Given the description of an element on the screen output the (x, y) to click on. 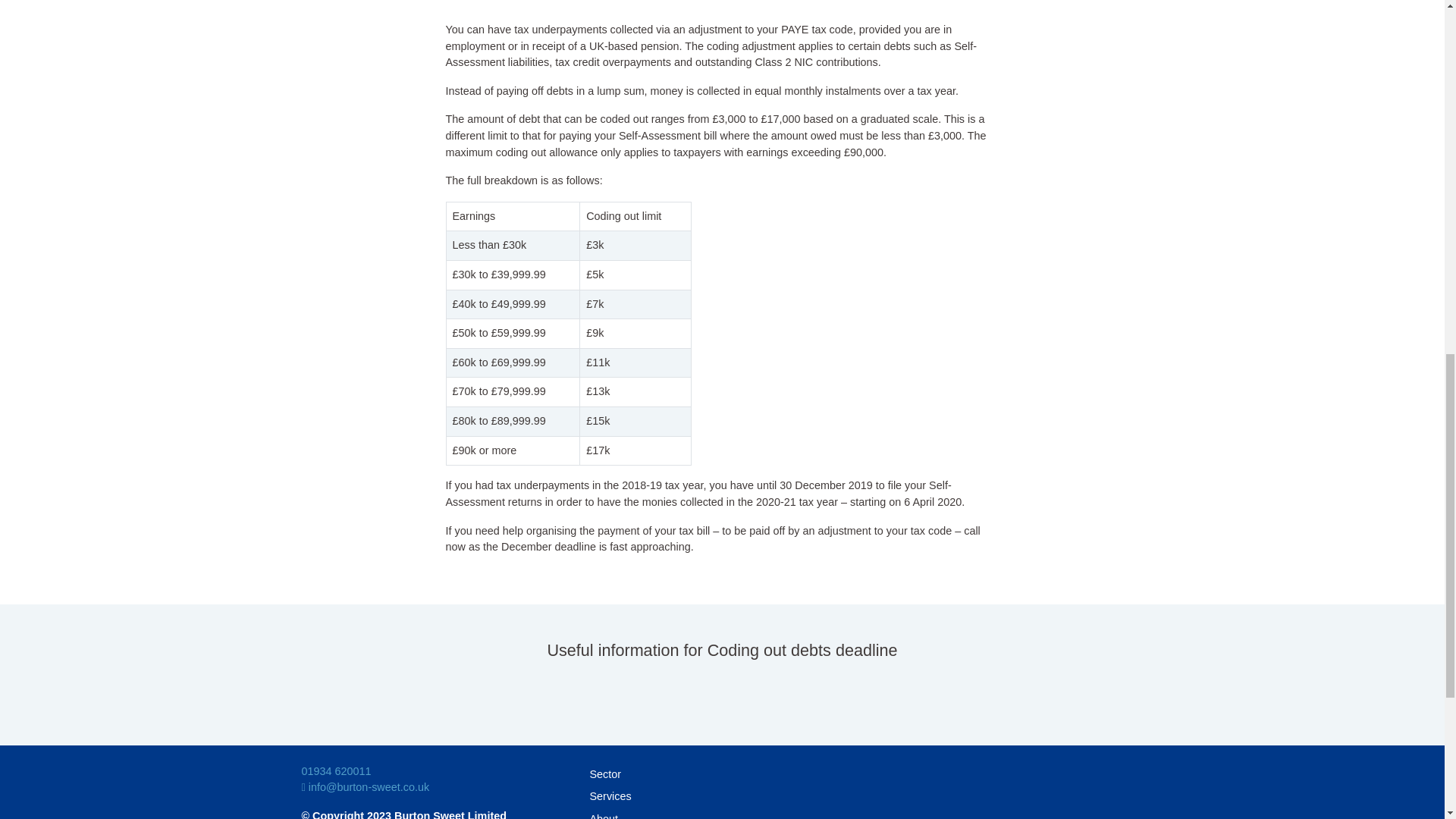
01934 620011 (336, 770)
About (721, 813)
Services (721, 796)
Sector (721, 774)
